Given the description of an element on the screen output the (x, y) to click on. 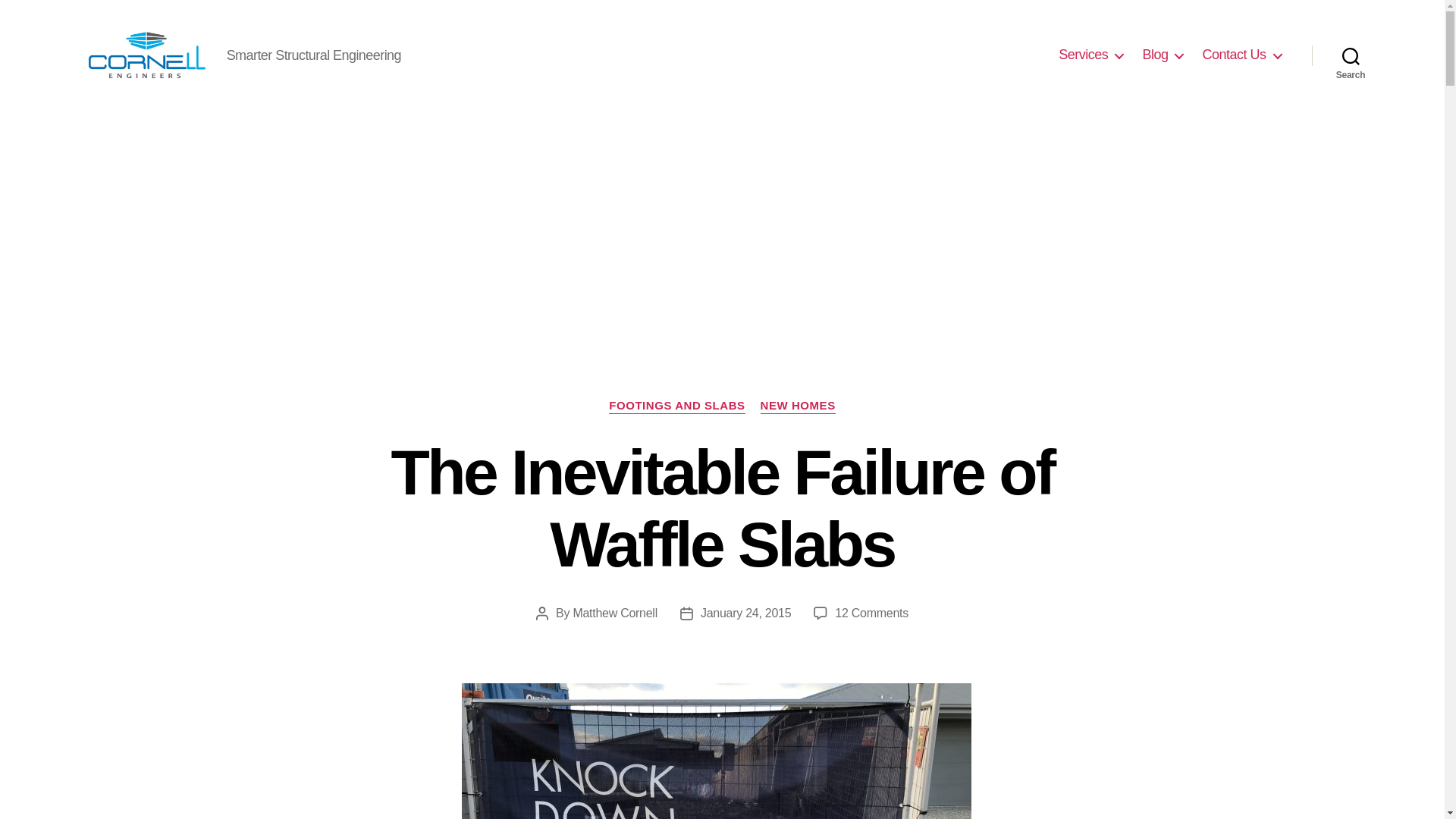
12 Comments
on The Inevitable Failure of Waffle Slabs Element type: text (871, 612)
Matthew Cornell Element type: text (614, 612)
January 24, 2015 Element type: text (745, 612)
Services Element type: text (1090, 55)
Search Element type: text (1350, 55)
Blog Element type: text (1162, 55)
Contact Us Element type: text (1240, 55)
FOOTINGS AND SLABS Element type: text (676, 406)
NEW HOMES Element type: text (797, 406)
Advertisement Element type: hover (721, 224)
